Given the description of an element on the screen output the (x, y) to click on. 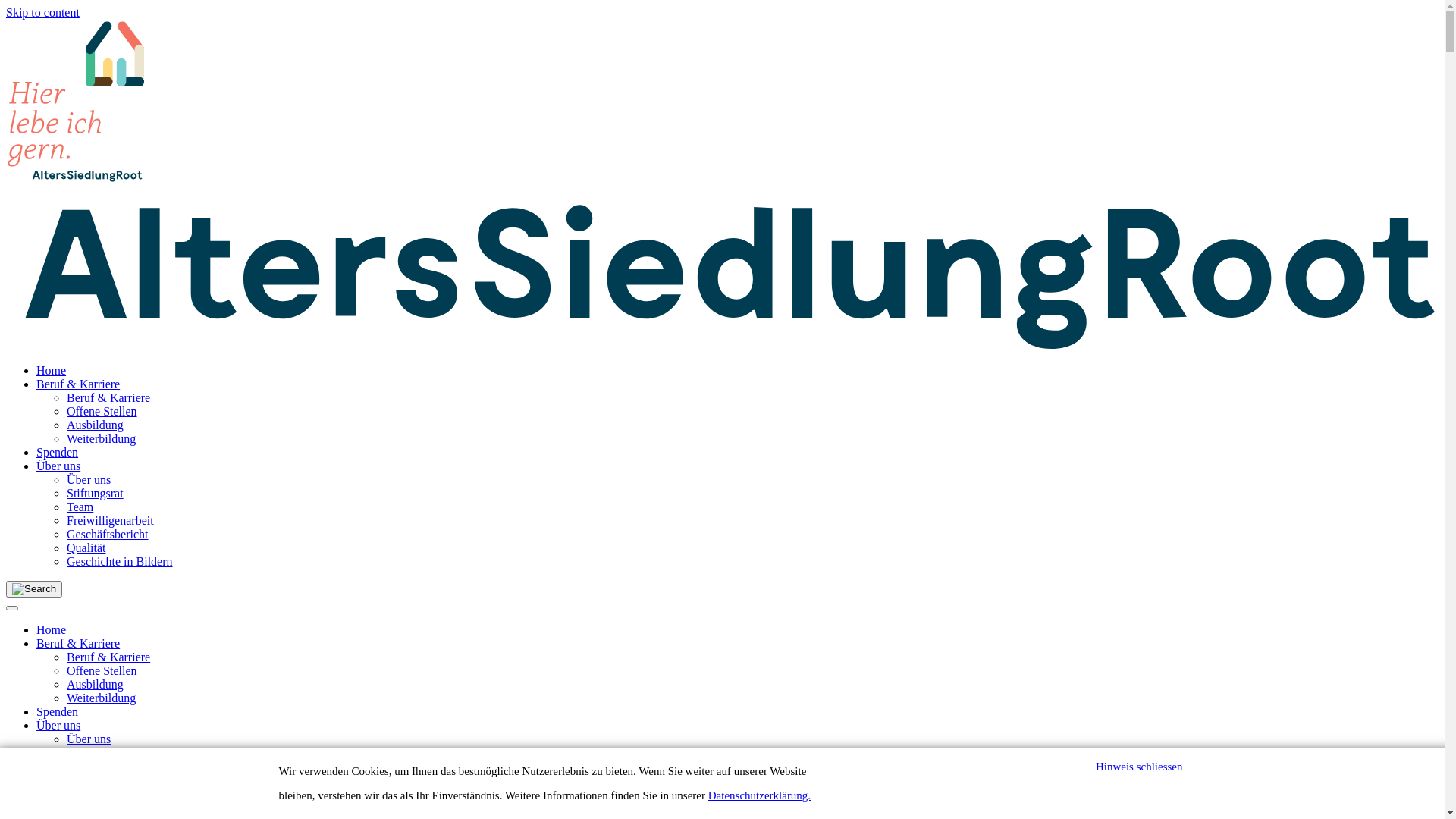
Stiftungsrat Element type: text (94, 492)
Freiwilligenarbeit Element type: text (109, 520)
Freiwilligenarbeit Element type: text (109, 779)
Beruf & Karriere Element type: text (77, 383)
Hinweis schliessen Element type: text (1139, 766)
Weiterbildung Element type: text (100, 438)
Ausbildung Element type: text (94, 424)
Home Element type: text (50, 629)
Skip to content Element type: text (42, 12)
Team Element type: text (79, 506)
Offene Stellen Element type: text (101, 410)
Stiftungsrat Element type: text (94, 752)
Beruf & Karriere Element type: text (77, 643)
Team Element type: text (79, 765)
Spenden Element type: text (57, 451)
Beruf & Karriere Element type: text (108, 397)
Beruf & Karriere Element type: text (108, 656)
Ausbildung Element type: text (94, 683)
Weiterbildung Element type: text (100, 697)
Spenden Element type: text (57, 711)
Home Element type: text (50, 370)
Offene Stellen Element type: text (101, 670)
Alterssiedlung Root Element type: hover (722, 261)
Geschichte in Bildern Element type: text (119, 561)
